Given the description of an element on the screen output the (x, y) to click on. 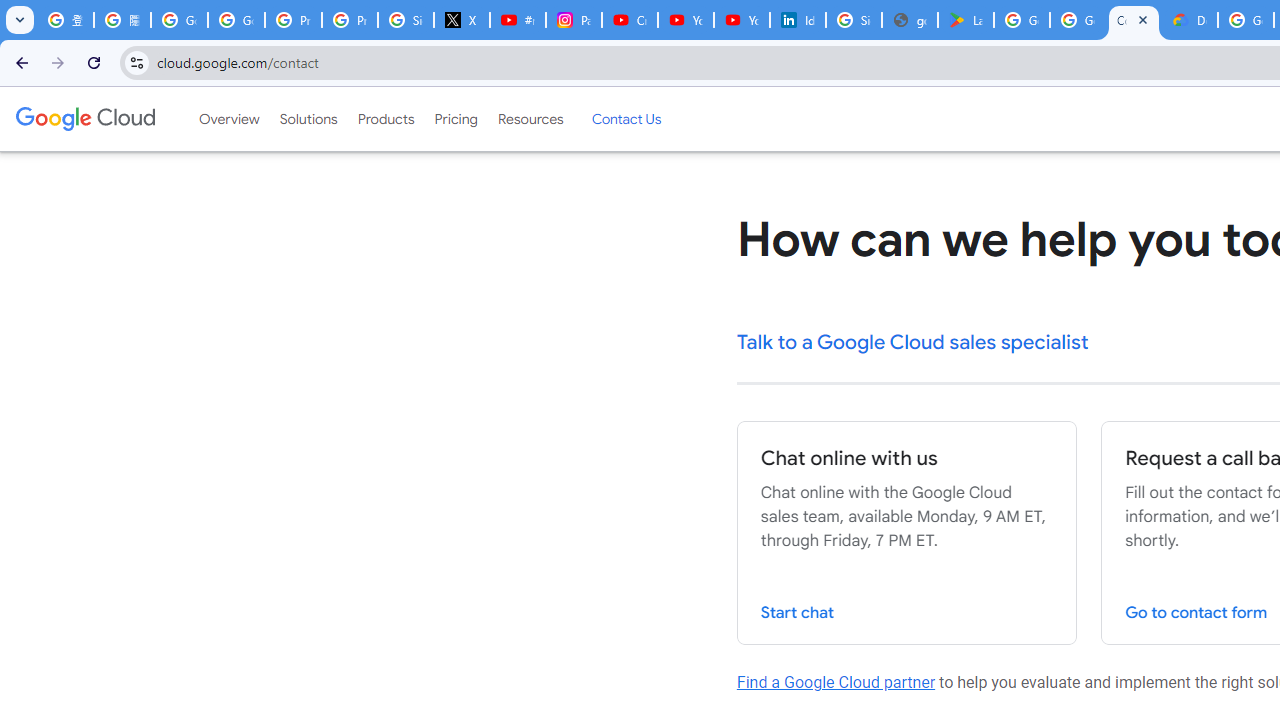
Find a Google Cloud partner (835, 682)
